Given the description of an element on the screen output the (x, y) to click on. 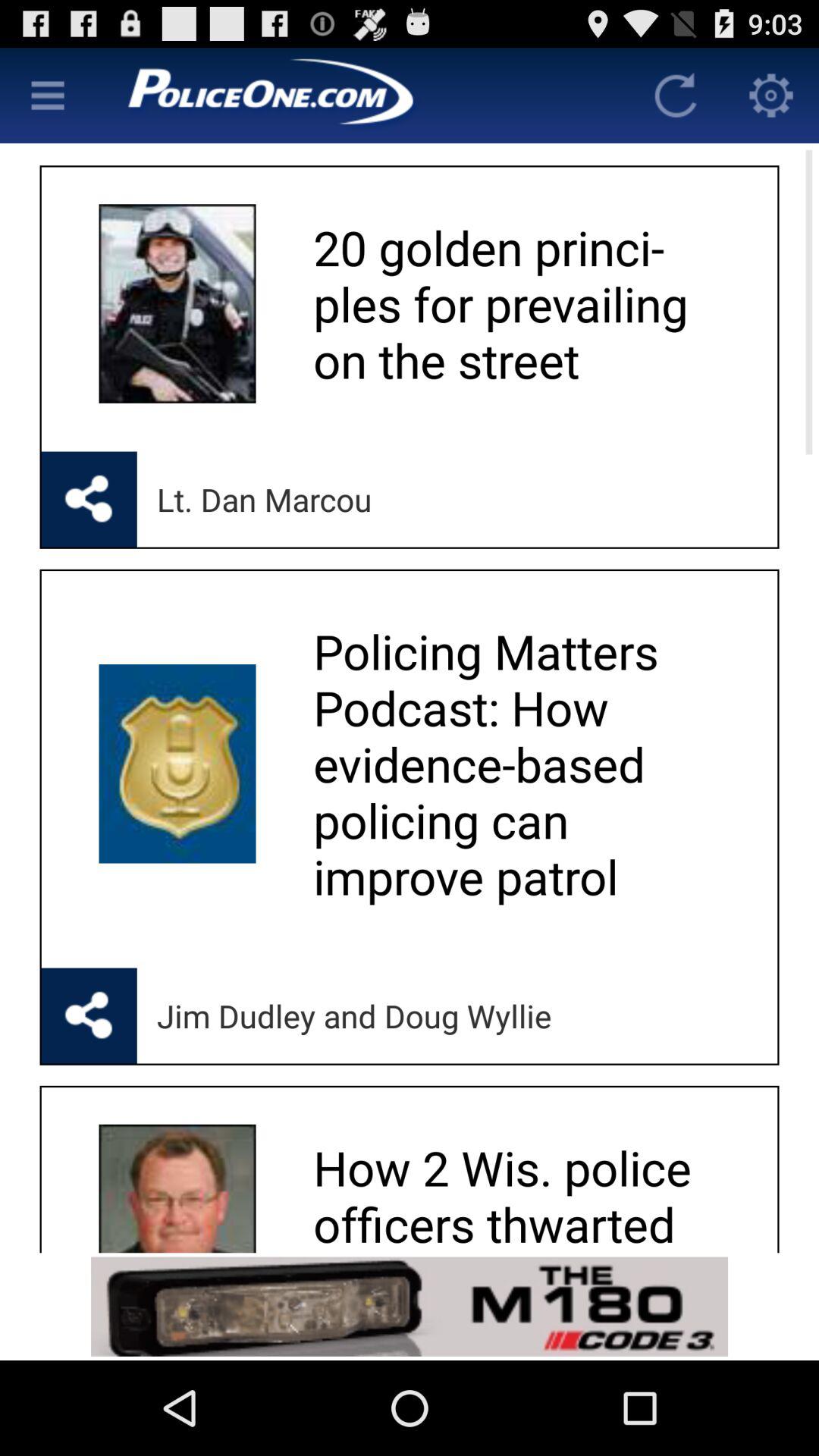
click refresh (675, 95)
